Given the description of an element on the screen output the (x, y) to click on. 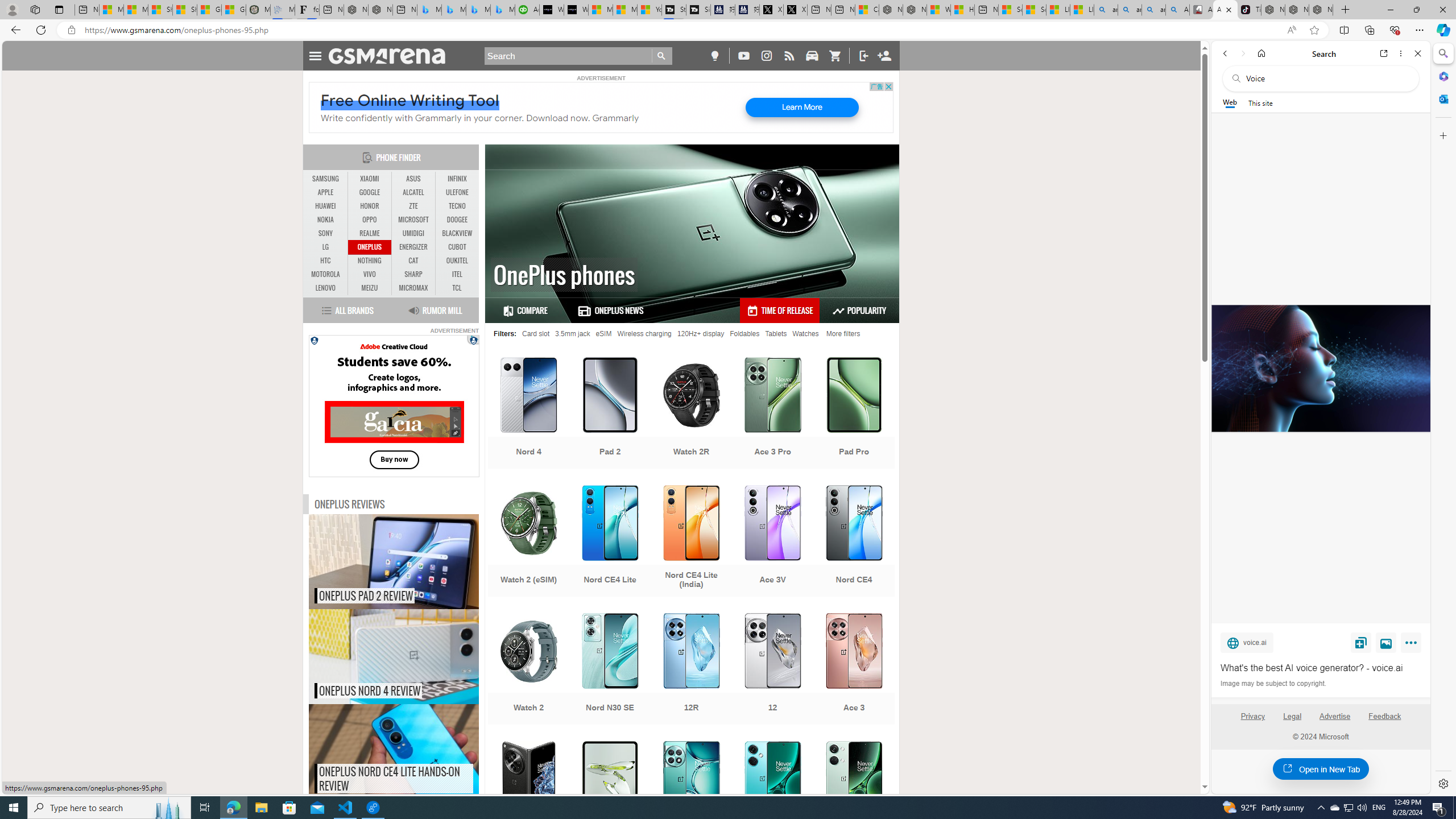
Advertise (1335, 715)
REALME (369, 233)
SAMSUNG (325, 178)
Class: qc-adchoices-link top-right  (473, 338)
Toggle Navigation (314, 53)
Search the web (1326, 78)
Advertise (1334, 720)
ULEFONE (457, 192)
UMIDIGI (413, 233)
